Given the description of an element on the screen output the (x, y) to click on. 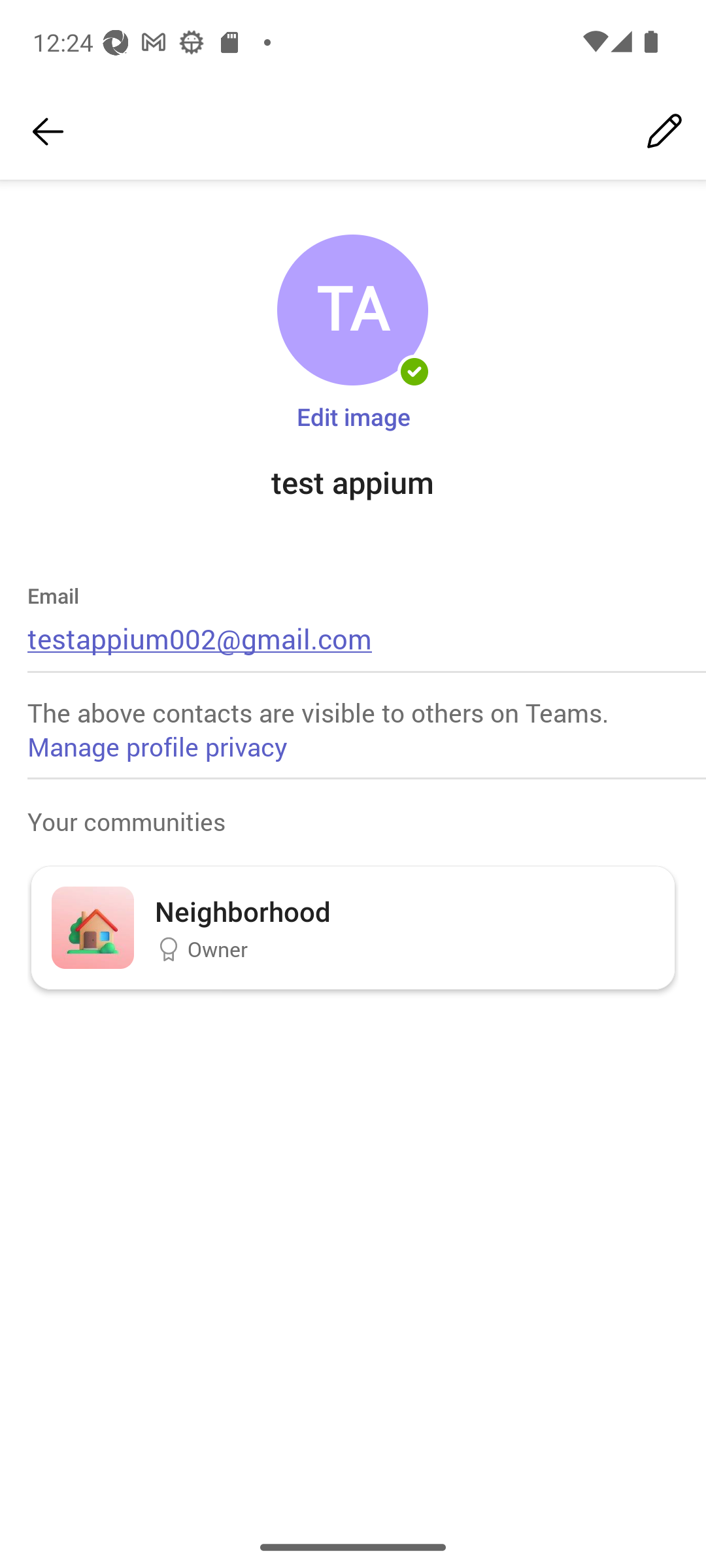
Back (48, 131)
Edit display name (664, 131)
test appium profile picture, Status: Available (352, 310)
Edit image (352, 415)
testappium002@gmail.com (199, 637)
